Given the description of an element on the screen output the (x, y) to click on. 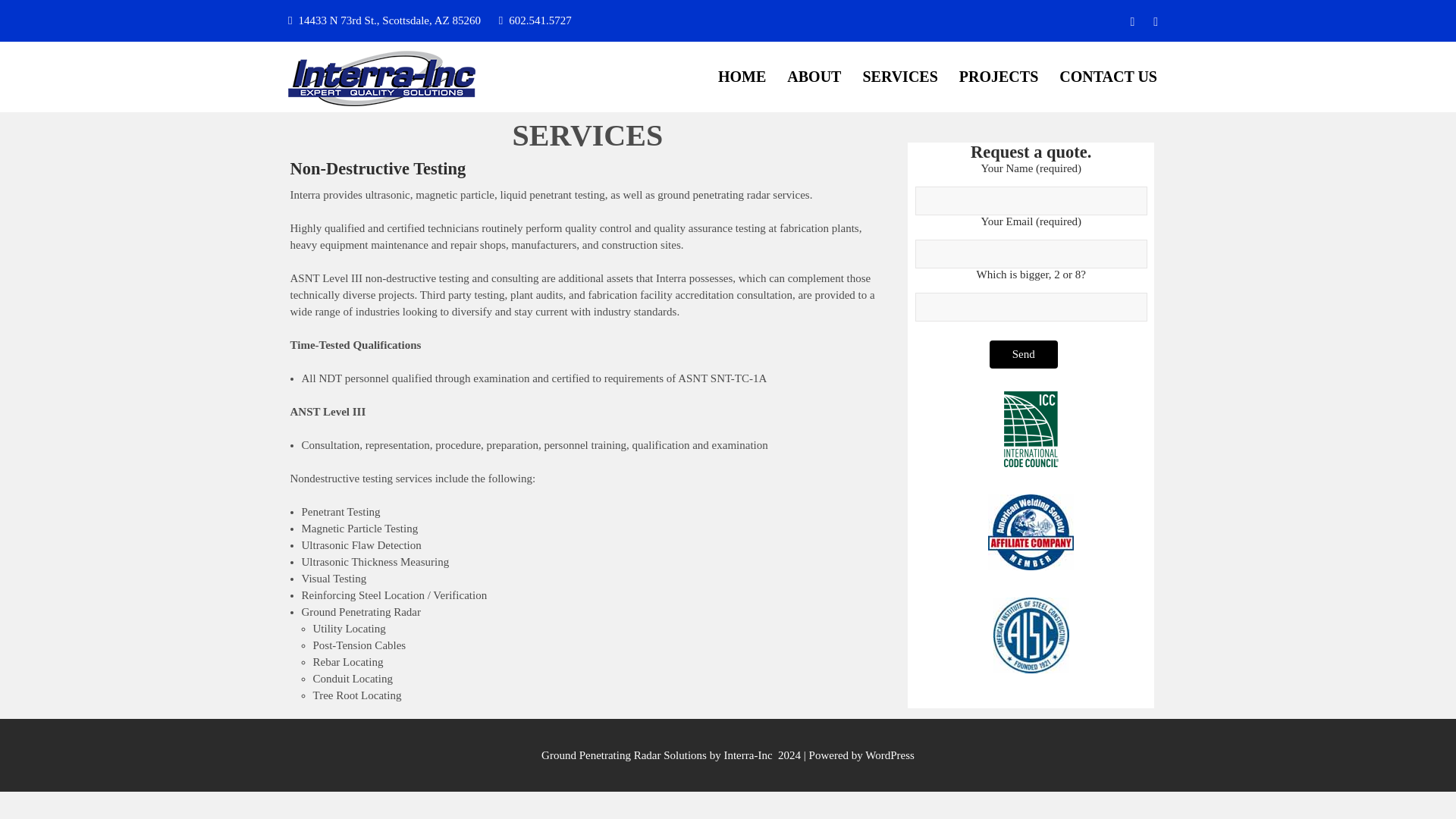
CONTACT US (1107, 76)
PROJECTS (998, 76)
ABOUT (813, 76)
Send (1024, 354)
HOME (741, 76)
SERVICES (899, 76)
Send (1024, 354)
Interra-Inc (360, 128)
